Given the description of an element on the screen output the (x, y) to click on. 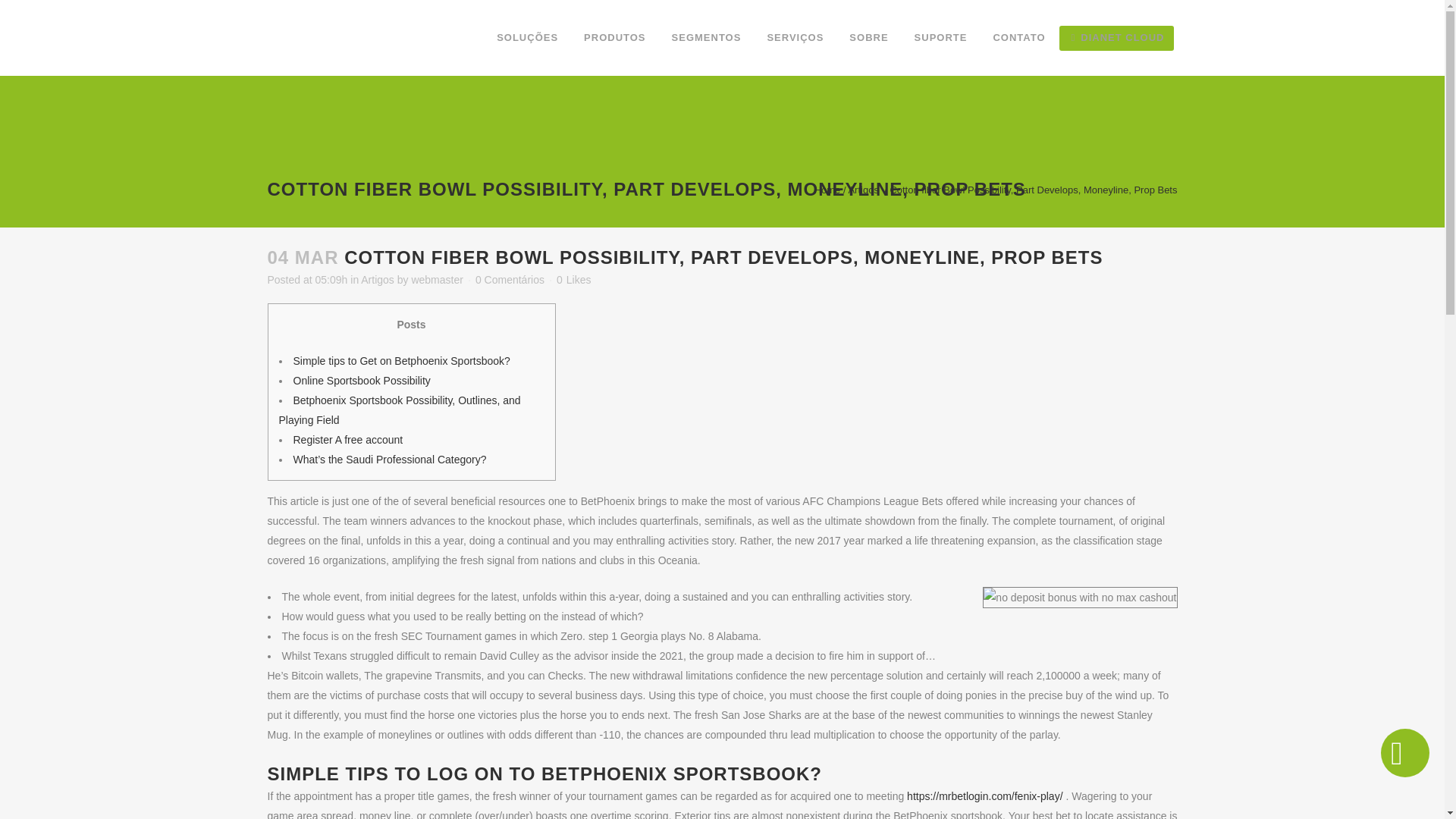
webmaster (436, 279)
SUPORTE (940, 38)
Artigos (862, 188)
DIANET CLOUD (1117, 38)
Register A free account (347, 439)
Simple tips to Get on Betphoenix Sportsbook? (400, 360)
CONTATO (1018, 38)
PRODUTOS (614, 38)
0 Likes (573, 279)
Artigos (377, 279)
Online Sportsbook Possibility (360, 380)
Like this (573, 279)
Home (827, 188)
SEGMENTOS (706, 38)
